Given the description of an element on the screen output the (x, y) to click on. 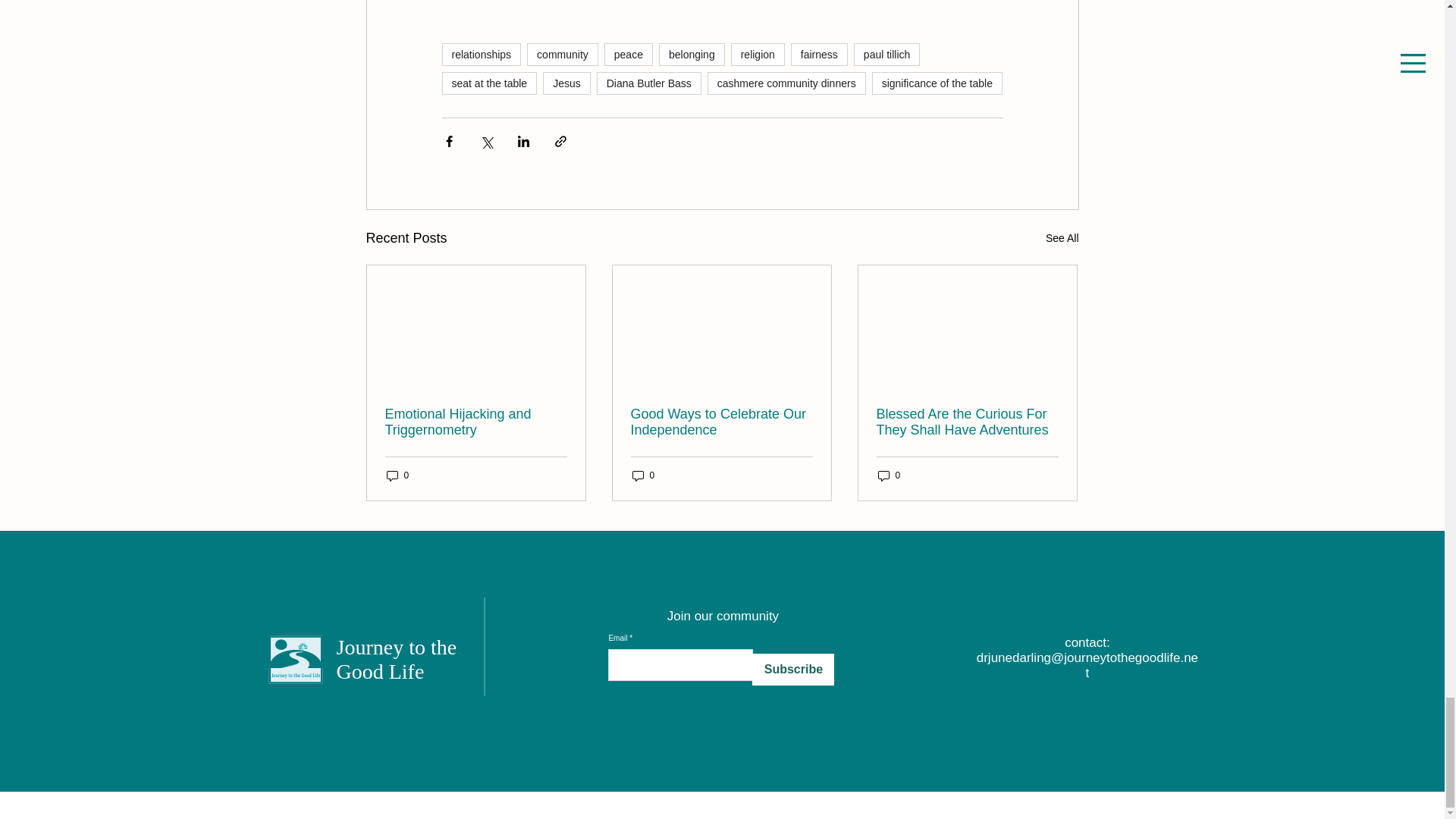
seat at the table (489, 83)
0 (643, 475)
fairness (818, 54)
religion (757, 54)
Subscribe (793, 669)
community (562, 54)
significance of the table (937, 83)
Jesus (567, 83)
0 (397, 475)
peace (628, 54)
Good Ways to Celebrate Our Independence (721, 422)
paul tillich (886, 54)
belonging (692, 54)
relationships (481, 54)
Diana Butler Bass (648, 83)
